Given the description of an element on the screen output the (x, y) to click on. 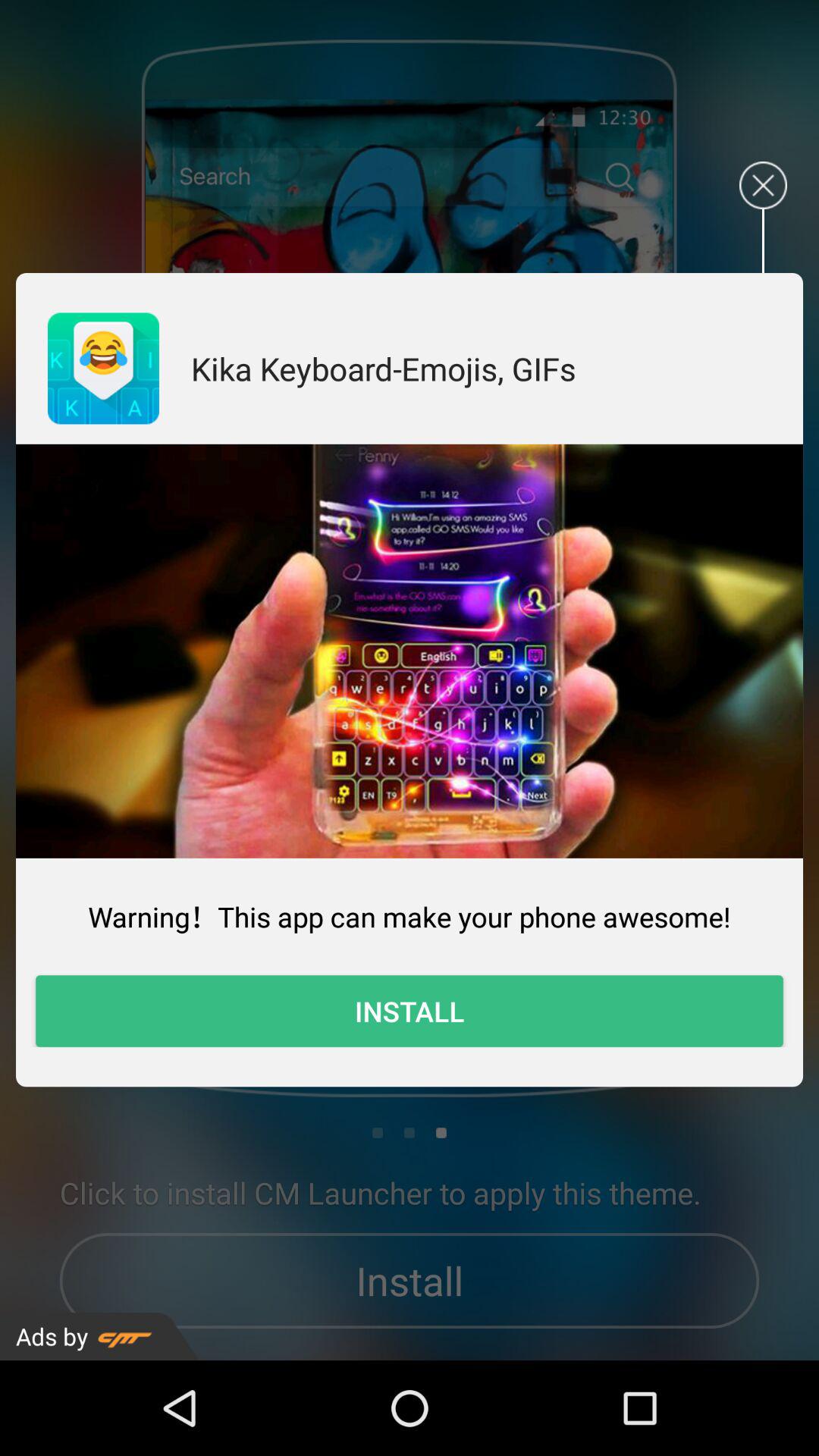
open the warning this app icon (409, 916)
